Given the description of an element on the screen output the (x, y) to click on. 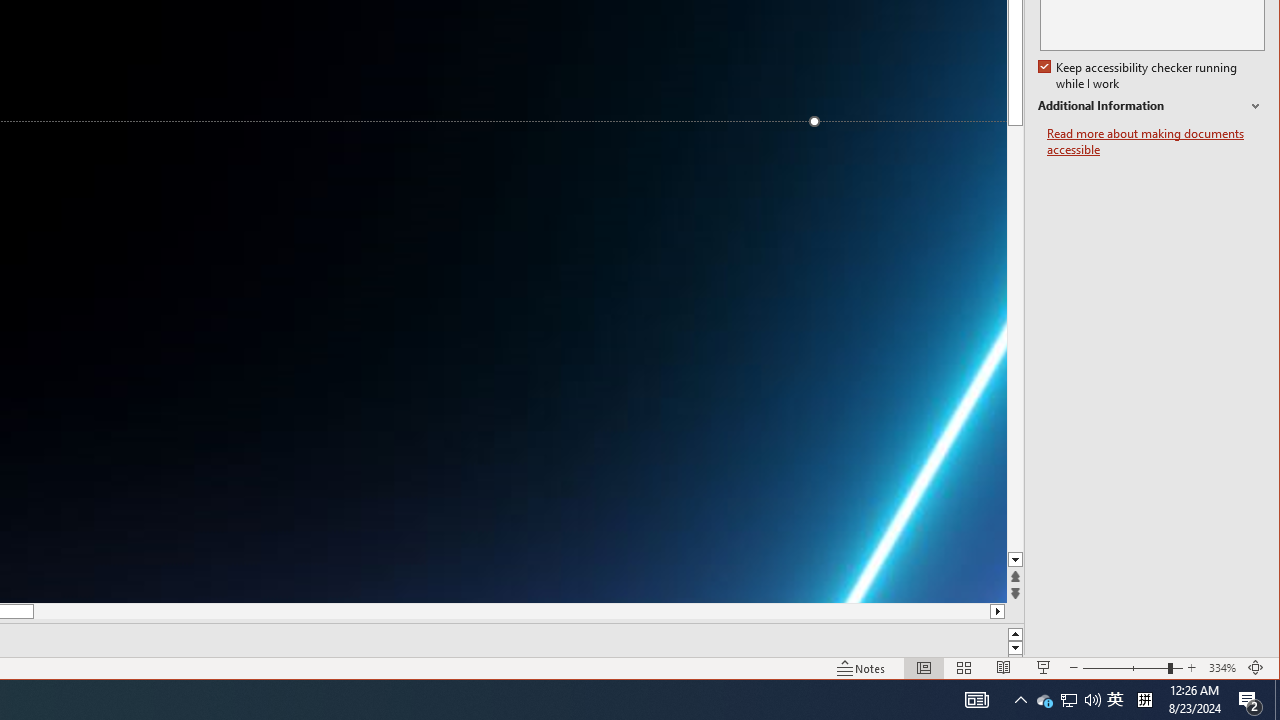
Zoom 334% (1044, 699)
